Given the description of an element on the screen output the (x, y) to click on. 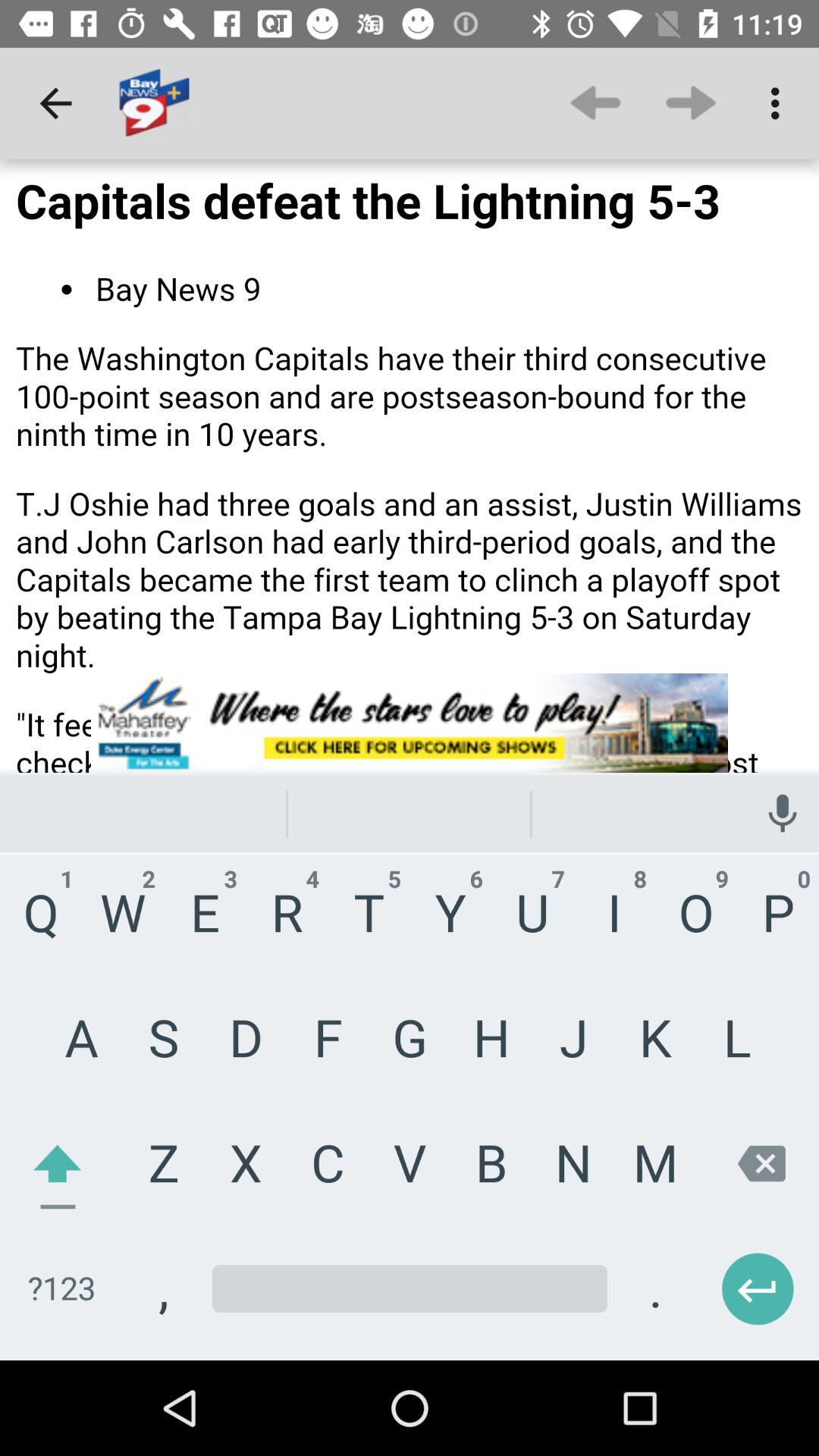
search page (409, 759)
